Given the description of an element on the screen output the (x, y) to click on. 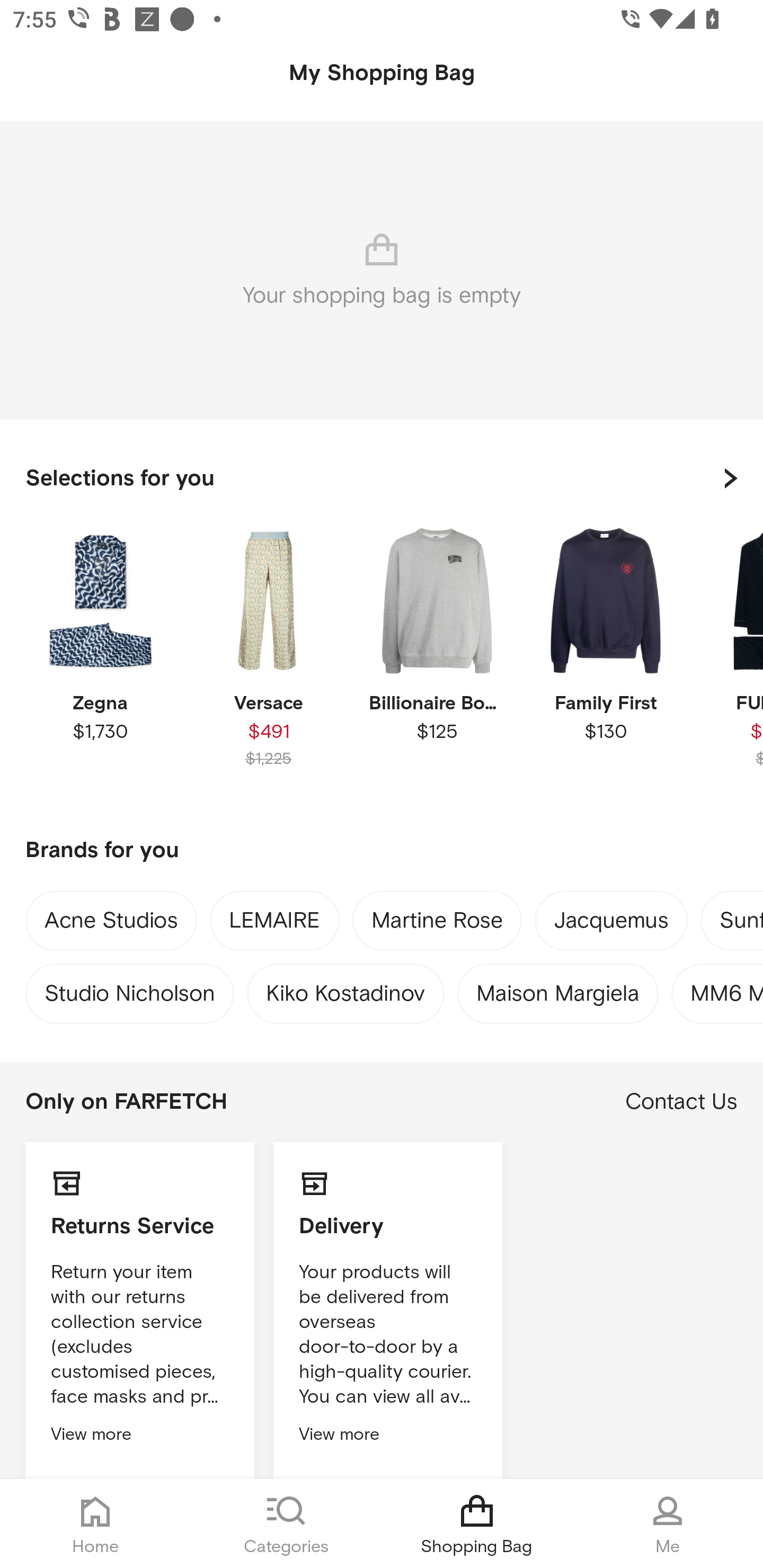
Selections for you (381, 477)
Zegna $1,730 (100, 660)
Versace $491 $1,225 (268, 660)
Billionaire Boys Club $125 (436, 660)
Family First $130 (605, 660)
Brands for you (381, 850)
Acne Studios (110, 922)
LEMAIRE (274, 924)
Martine Rose (436, 924)
Jacquemus (610, 924)
Studio Nicholson (129, 988)
Kiko Kostadinov (345, 988)
Maison Margiela (557, 988)
Contact Us (680, 1101)
Home (95, 1523)
Categories (285, 1523)
Me (667, 1523)
